Given the description of an element on the screen output the (x, y) to click on. 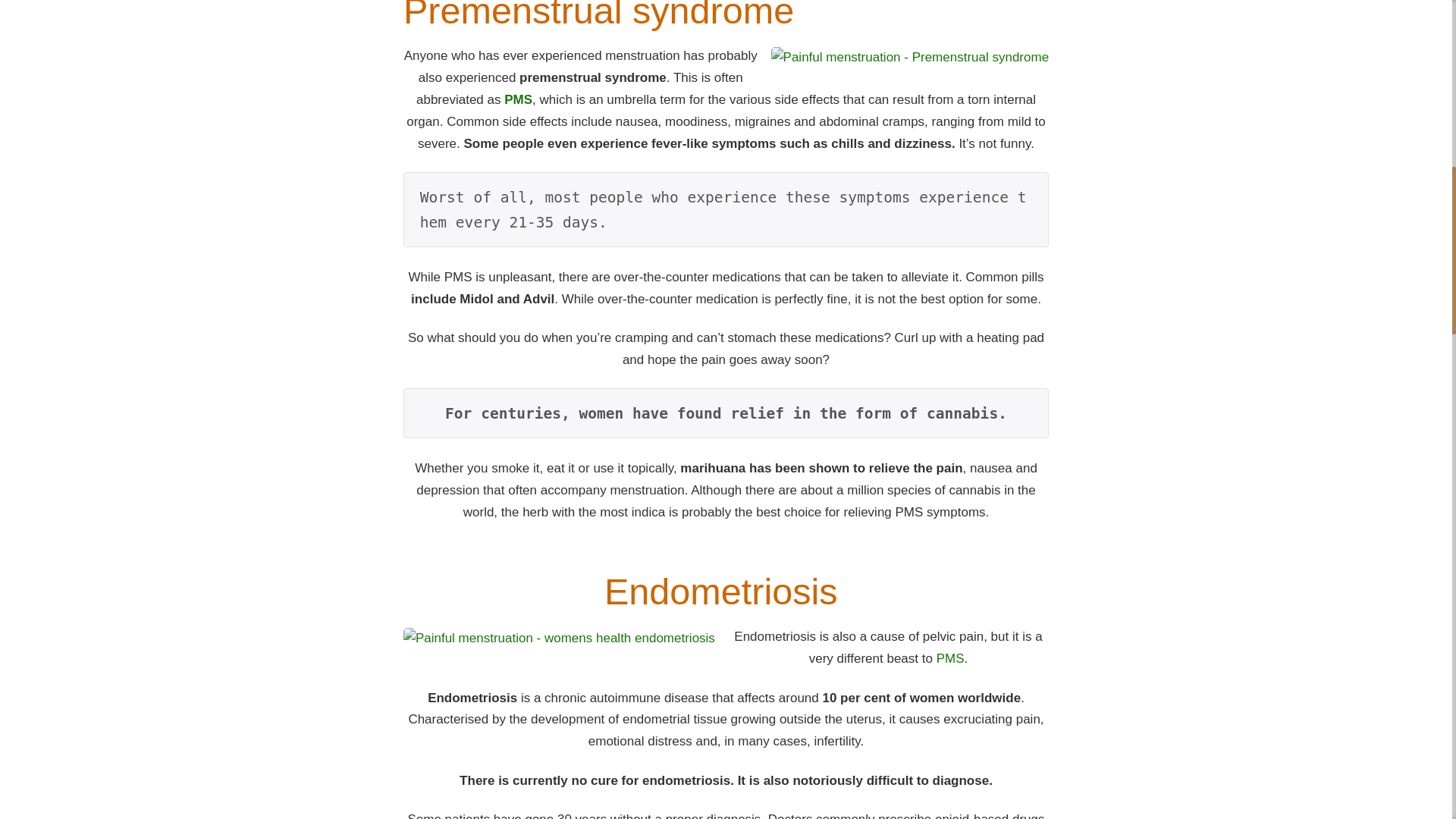
PMS (517, 99)
PMS (949, 658)
